Given the description of an element on the screen output the (x, y) to click on. 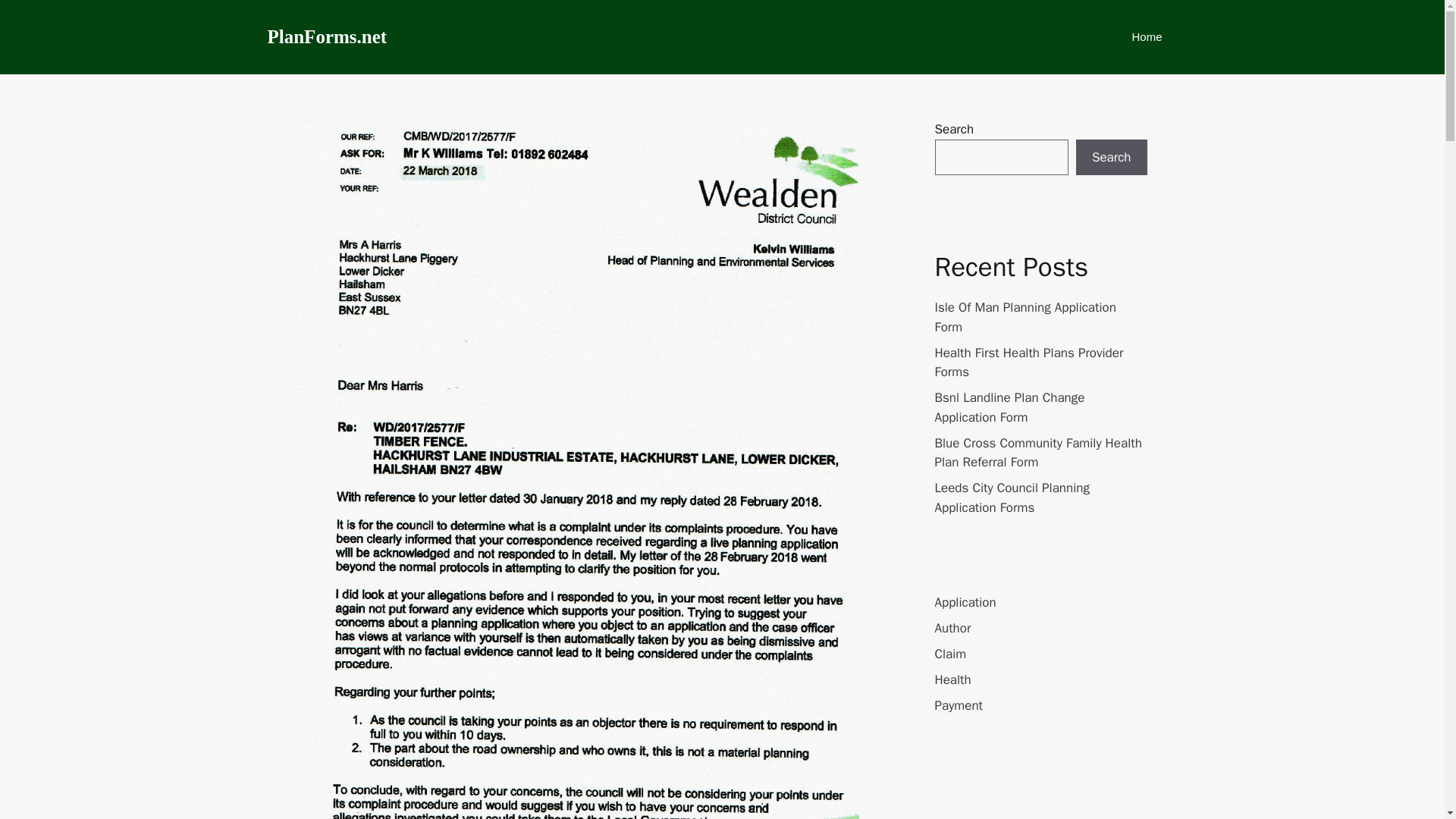
Claim (950, 653)
Isle Of Man Planning Application Form (1024, 316)
Bsnl Landline Plan Change Application Form (1009, 407)
Author (952, 627)
Leeds City Council Planning Application Forms (1011, 497)
Search (1111, 157)
Blue Cross Community Family Health Plan Referral Form (1037, 452)
Health First Health Plans Provider Forms (1028, 361)
Home (1146, 36)
Payment (958, 705)
